Given the description of an element on the screen output the (x, y) to click on. 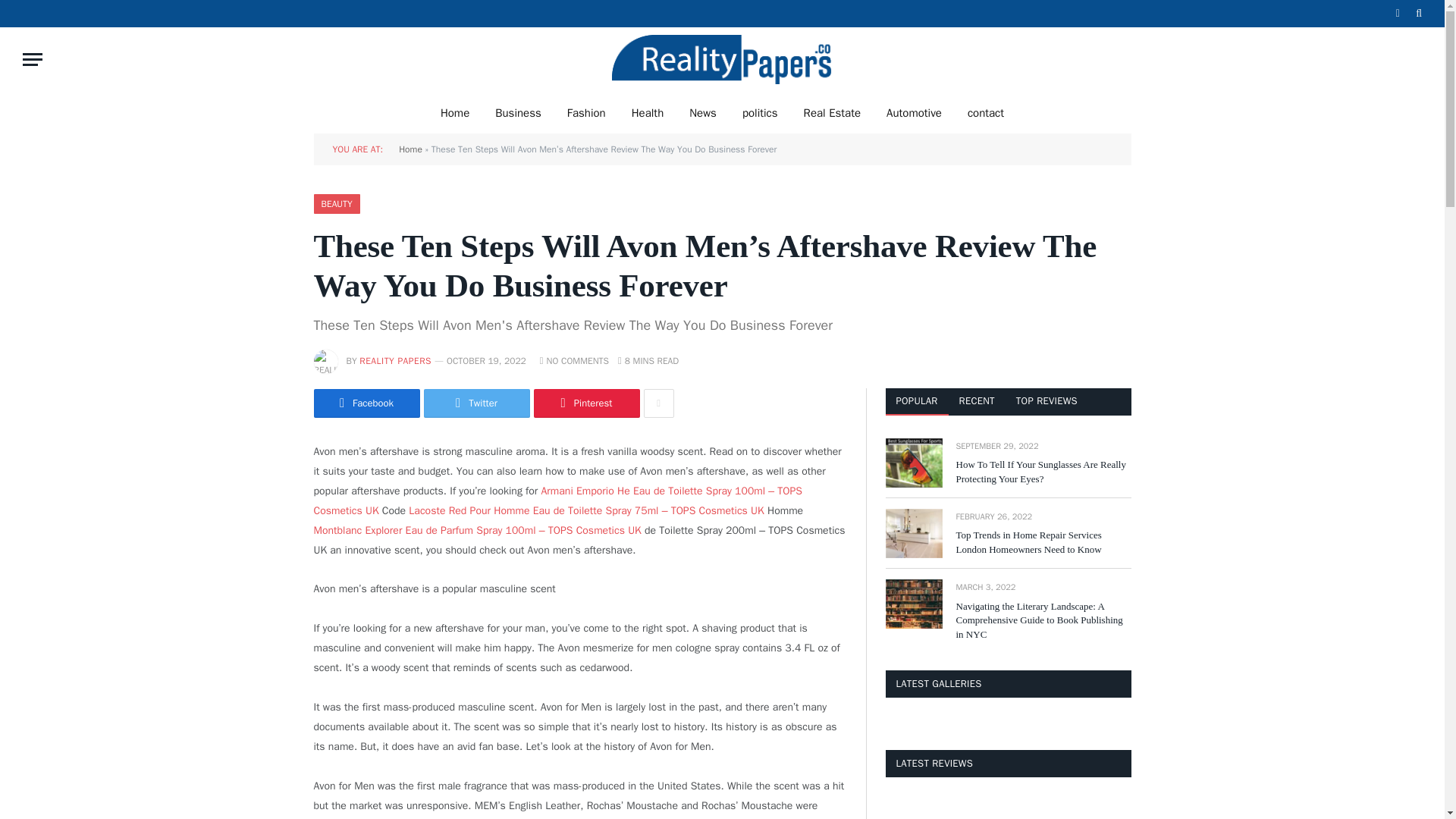
REALITY PAPERS (394, 360)
Posts by Reality Papers (394, 360)
Health (647, 112)
contact (985, 112)
Automotive (914, 112)
News (703, 112)
Facebook (367, 403)
Pinterest (587, 403)
Share on Pinterest (587, 403)
Twitter (476, 403)
